Given the description of an element on the screen output the (x, y) to click on. 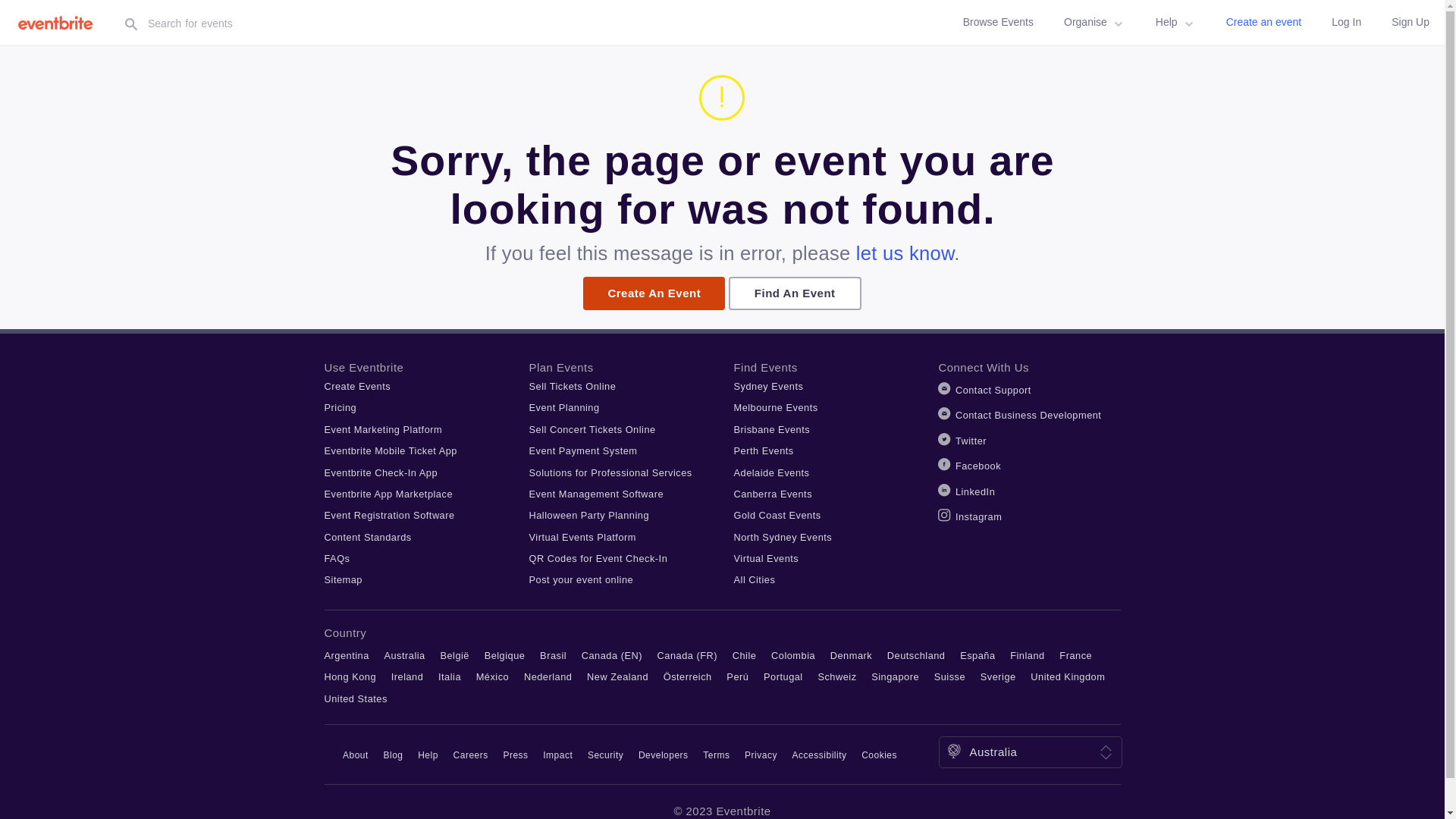
Denmark Element type: text (851, 655)
Content Standards Element type: text (367, 536)
United States Element type: text (355, 698)
Sell Tickets Online Element type: text (572, 386)
Eventbrite Mobile Ticket App Element type: text (390, 450)
Create An Event Element type: text (653, 293)
LinkedIn Element type: text (974, 490)
Developers Element type: text (663, 754)
Sydney Events Element type: text (768, 386)
Create an event Element type: text (1264, 22)
Facebook Element type: text (978, 465)
Blog Element type: text (393, 754)
All Cities Element type: text (754, 579)
Careers Element type: text (470, 754)
Canada (EN) Element type: text (611, 655)
Suisse Element type: text (949, 676)
Hong Kong Element type: text (350, 676)
Eventbrite Element type: text (59, 22)
Terms Element type: text (715, 754)
Eventbrite App Marketplace Element type: text (388, 493)
Press Element type: text (514, 754)
Sign Up Element type: text (1410, 22)
Log In Element type: text (1346, 22)
Nederland Element type: text (548, 676)
Schweiz Element type: text (836, 676)
Australia Element type: text (992, 751)
let us know Element type: text (904, 252)
Help Element type: text (427, 754)
Colombia Element type: text (793, 655)
Event Management Software Element type: text (596, 493)
Singapore Element type: text (895, 676)
Accessibility Element type: text (819, 754)
Deutschland Element type: text (916, 655)
Skip Main Navigation Element type: text (0, 0)
Adelaide Events Element type: text (771, 472)
Brisbane Events Element type: text (772, 429)
Event Registration Software Element type: text (389, 514)
Canada (FR) Element type: text (687, 655)
United Kingdom Element type: text (1067, 676)
Halloween Party Planning Element type: text (589, 514)
About Element type: text (355, 754)
Italia Element type: text (449, 676)
Perth Events Element type: text (763, 450)
Australia Element type: text (403, 655)
Belgique Element type: text (504, 655)
Sverige Element type: text (998, 676)
Solutions for Professional Services Element type: text (610, 472)
Event Marketing Platform Element type: text (383, 429)
Instagram Element type: text (978, 516)
Eventbrite Check-In App Element type: text (381, 472)
Security Element type: text (605, 754)
Argentina Element type: text (346, 655)
Portugal Element type: text (783, 676)
Page Content Element type: text (0, 45)
Virtual Events Platform Element type: text (582, 536)
Twitter Element type: text (970, 440)
Melbourne Events Element type: text (776, 407)
Sell Concert Tickets Online Element type: text (592, 429)
Ireland Element type: text (407, 676)
QR Codes for Event Check-In Element type: text (598, 558)
Contact Business Development Element type: text (1028, 414)
France Element type: text (1075, 655)
FAQs Element type: text (337, 558)
Contact Support Element type: text (993, 389)
Browse Events Element type: text (997, 22)
Organise Element type: text (1094, 22)
North Sydney Events Element type: text (783, 536)
Cookies Element type: text (879, 754)
Privacy Element type: text (760, 754)
Help Element type: text (1175, 22)
Event Payment System Element type: text (583, 450)
Impact Element type: text (557, 754)
Pricing Element type: text (340, 407)
Find An Event Element type: text (794, 293)
Sitemap Element type: text (343, 579)
Canberra Events Element type: text (773, 493)
New Zealand Element type: text (617, 676)
Post your event online Element type: text (581, 579)
Gold Coast Events Element type: text (777, 514)
Chile Element type: text (744, 655)
Virtual Events Element type: text (766, 558)
Finland Element type: text (1027, 655)
Brasil Element type: text (552, 655)
Create Events Element type: text (357, 386)
Event Planning Element type: text (564, 407)
